Given the description of an element on the screen output the (x, y) to click on. 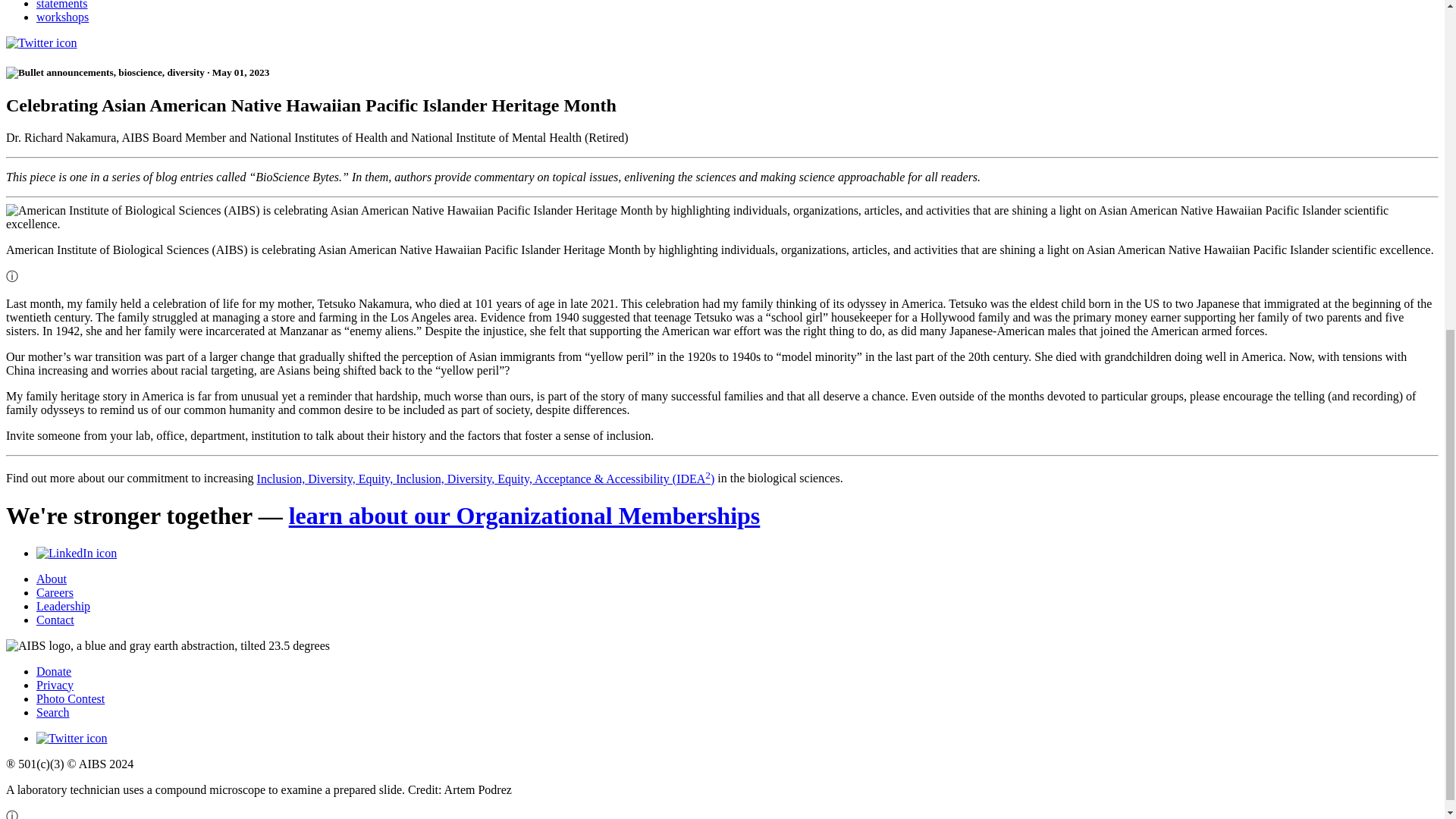
Privacy (55, 684)
statements (61, 4)
About (51, 578)
Donate (53, 671)
Careers (55, 592)
Leadership (63, 605)
Search (52, 712)
workshops (62, 16)
Contact (55, 619)
Photo Contest (70, 698)
learn about our Organizational Memberships (524, 515)
Share on Twitter (41, 42)
